Given the description of an element on the screen output the (x, y) to click on. 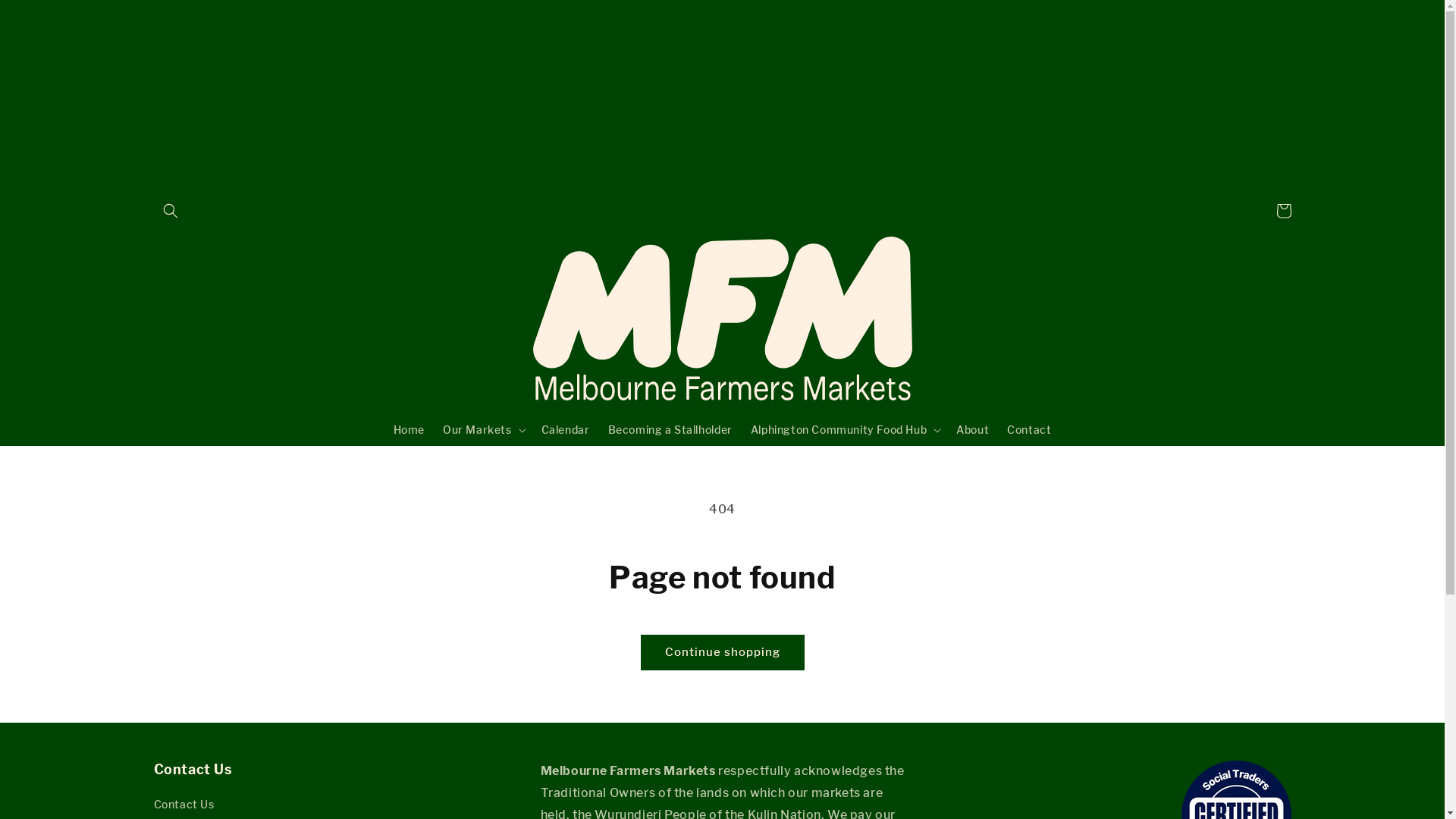
About Element type: text (972, 429)
Cart Element type: text (1282, 210)
Calendar Element type: text (565, 429)
Contact Element type: text (1028, 429)
Continue shopping Element type: text (722, 652)
Home Element type: text (408, 429)
Contact Us Element type: text (183, 805)
Becoming a Stallholder Element type: text (670, 429)
